Given the description of an element on the screen output the (x, y) to click on. 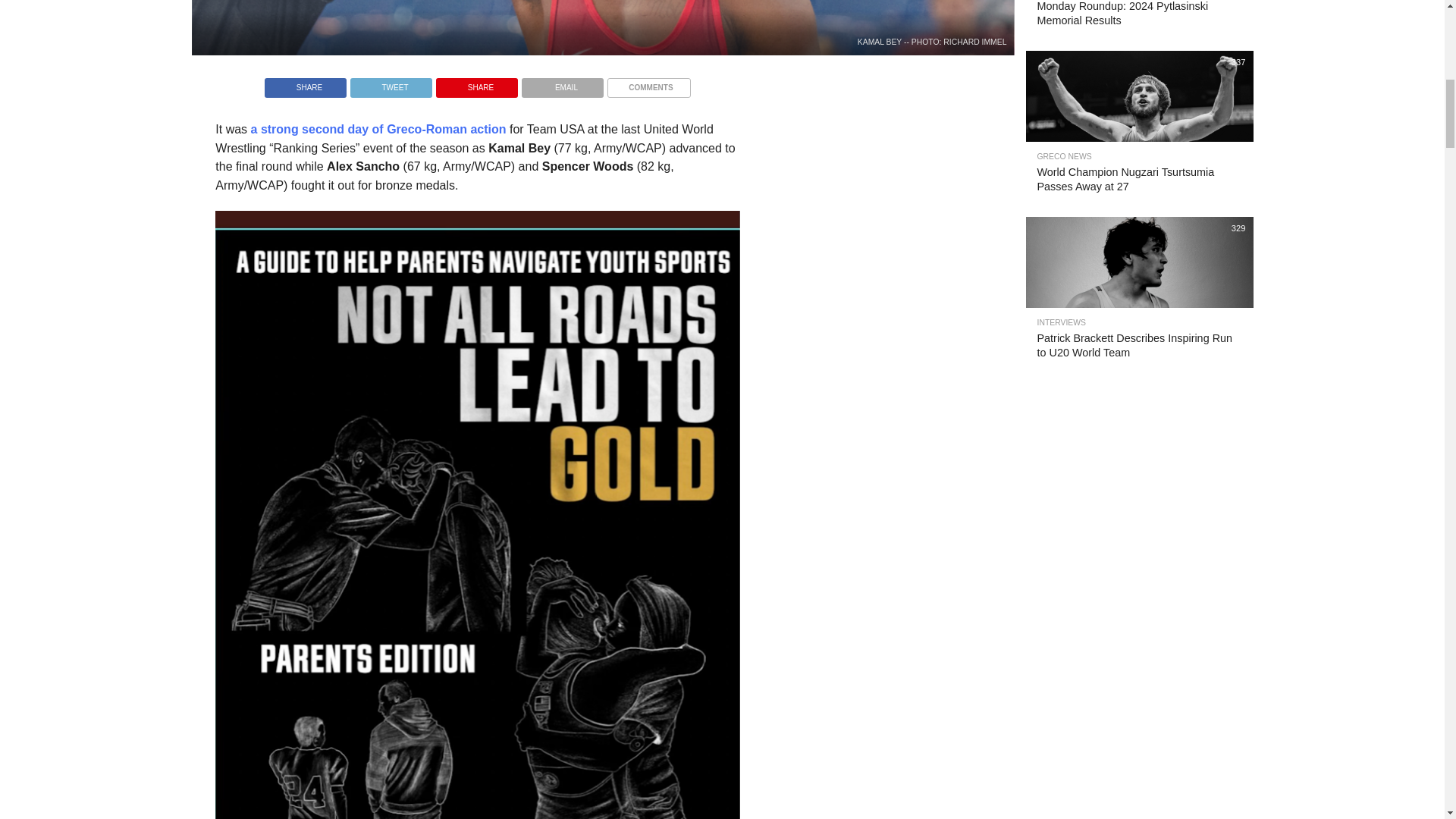
SHARE (476, 83)
Share on Facebook (305, 83)
TWEET (390, 83)
EMAIL (562, 83)
a strong second day of Greco-Roman action (378, 128)
Tweet This Post (390, 83)
Pin This Post (476, 83)
SHARE (305, 83)
COMMENTS (648, 83)
